Given the description of an element on the screen output the (x, y) to click on. 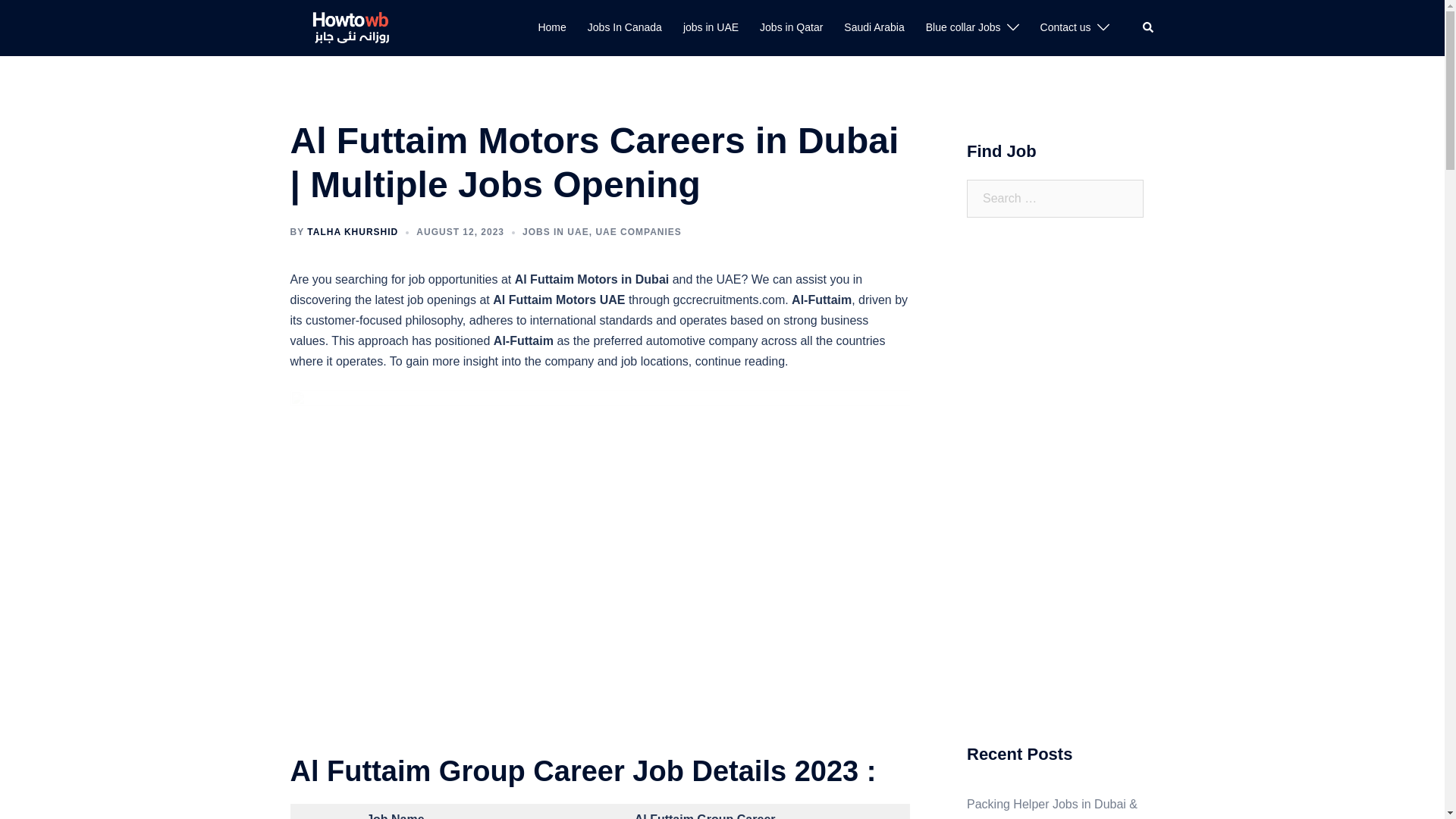
Saudi Arabia (874, 27)
Jobs In Canada (625, 27)
Blue collar Jobs (963, 27)
Contact us (1065, 27)
HowtoWb.com (340, 26)
Jobs in Qatar (791, 27)
jobs in UAE (710, 27)
Home (551, 27)
Search (1147, 28)
